Given the description of an element on the screen output the (x, y) to click on. 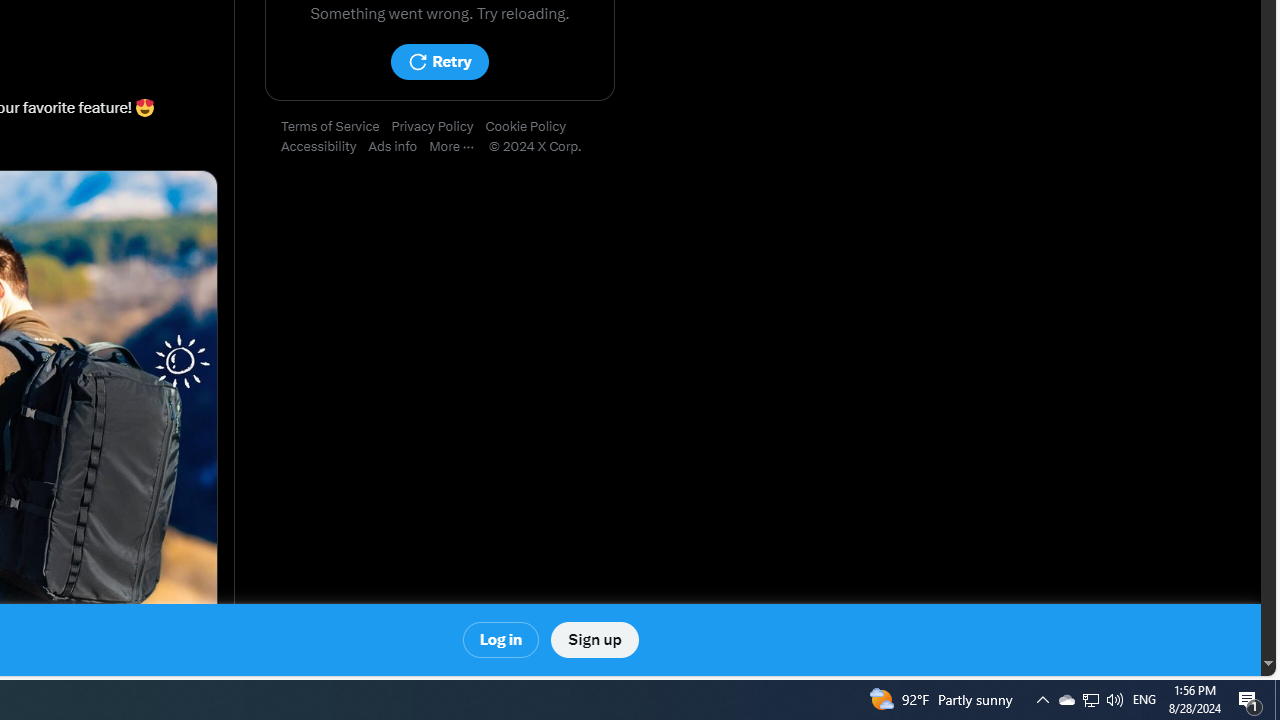
Accessibility (324, 147)
Privacy Policy (438, 127)
Log in (501, 640)
Terms of Service (336, 127)
Ads info (399, 147)
Sign up (594, 640)
More (458, 147)
Retry (439, 61)
Cookie Policy (531, 127)
